Given the description of an element on the screen output the (x, y) to click on. 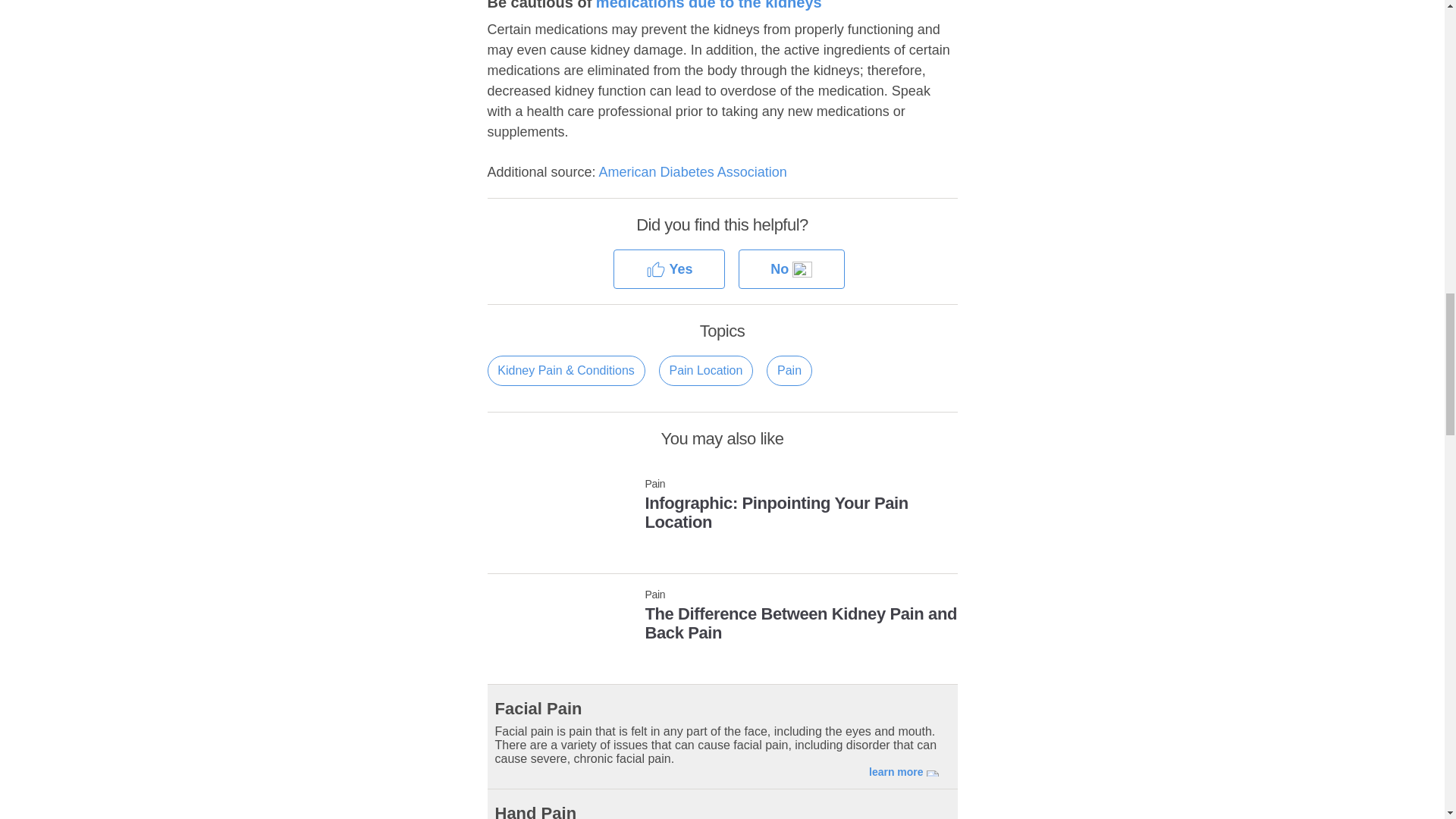
American Diabetes Association (692, 171)
No (791, 269)
Pain Location (705, 369)
medications due to the kidneys (721, 618)
Pain (708, 5)
Yes (721, 508)
